Given the description of an element on the screen output the (x, y) to click on. 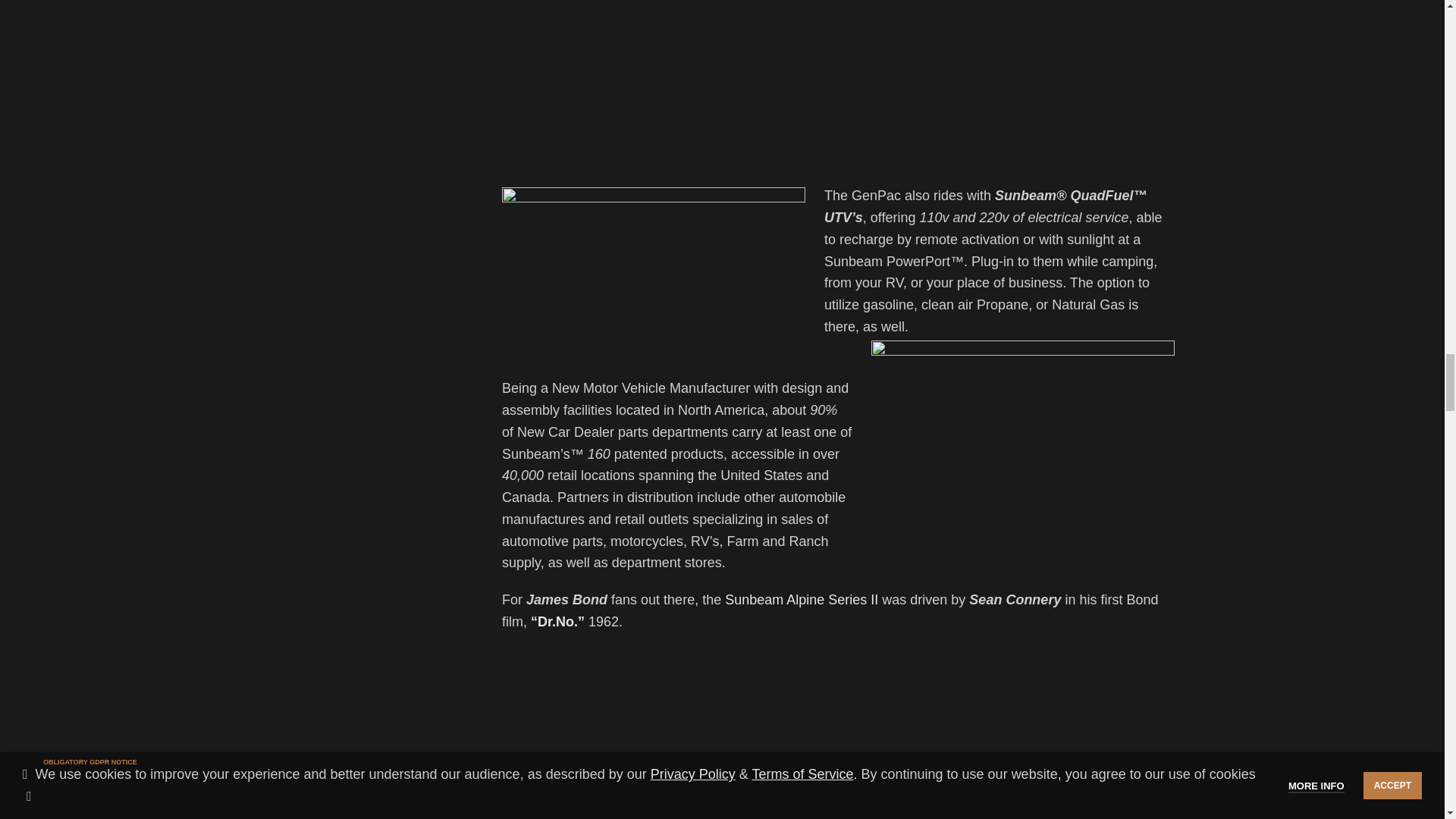
Sunbeam Alpine Series II (803, 599)
